Given the description of an element on the screen output the (x, y) to click on. 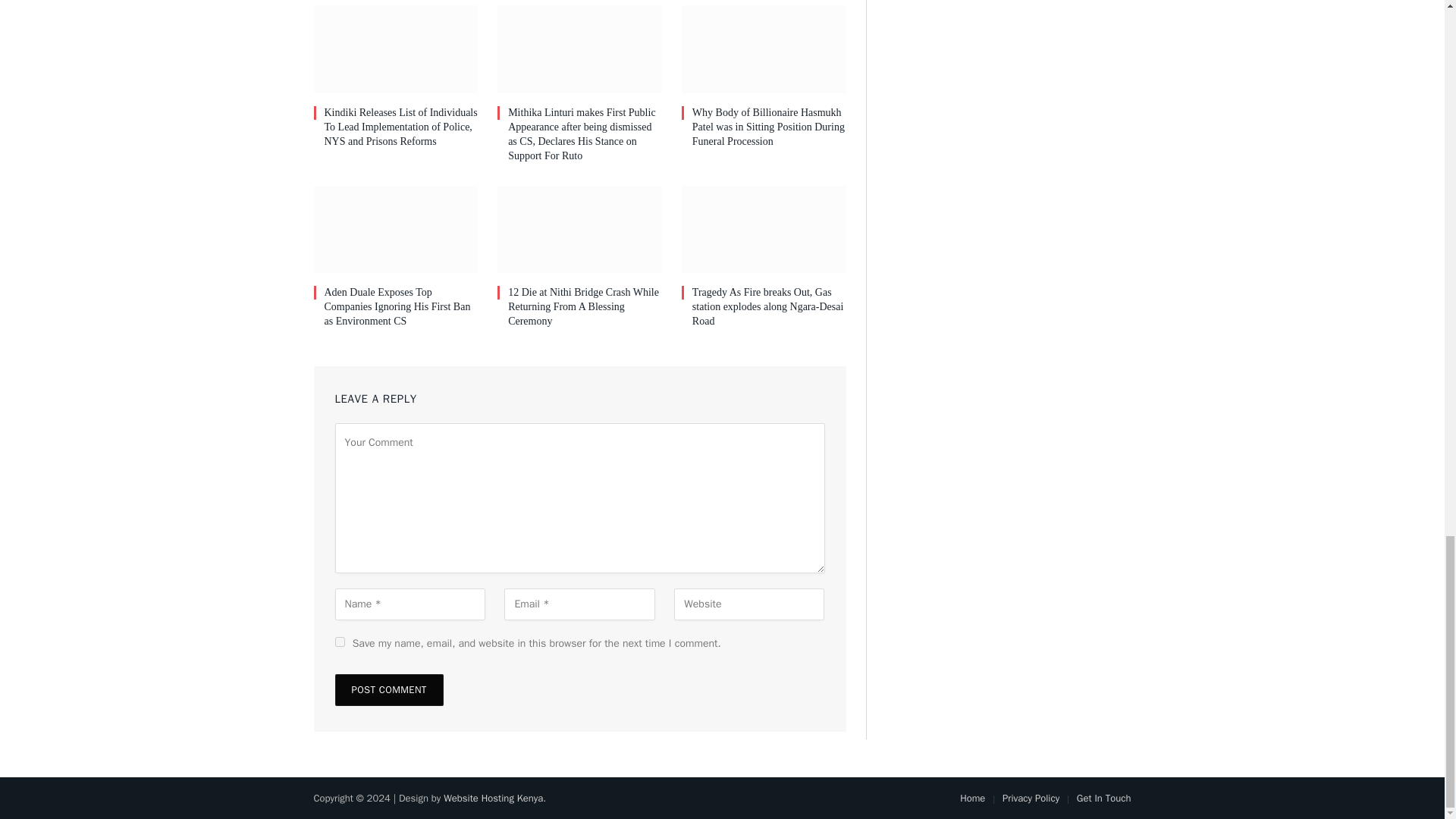
yes (339, 642)
Post Comment (389, 689)
